Given the description of an element on the screen output the (x, y) to click on. 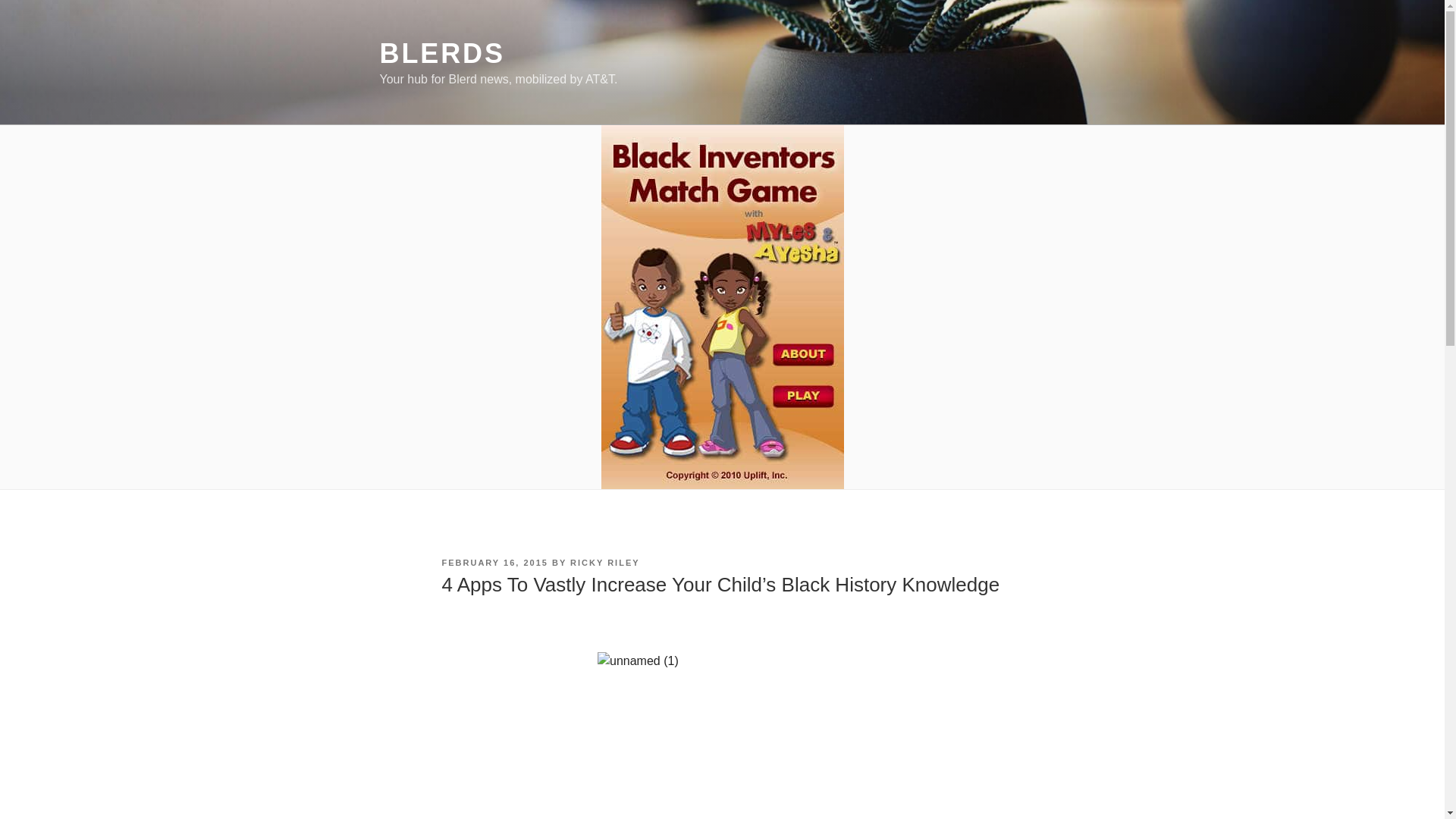
FEBRUARY 16, 2015 (494, 562)
RICKY RILEY (604, 562)
BLERDS (440, 52)
